Given the description of an element on the screen output the (x, y) to click on. 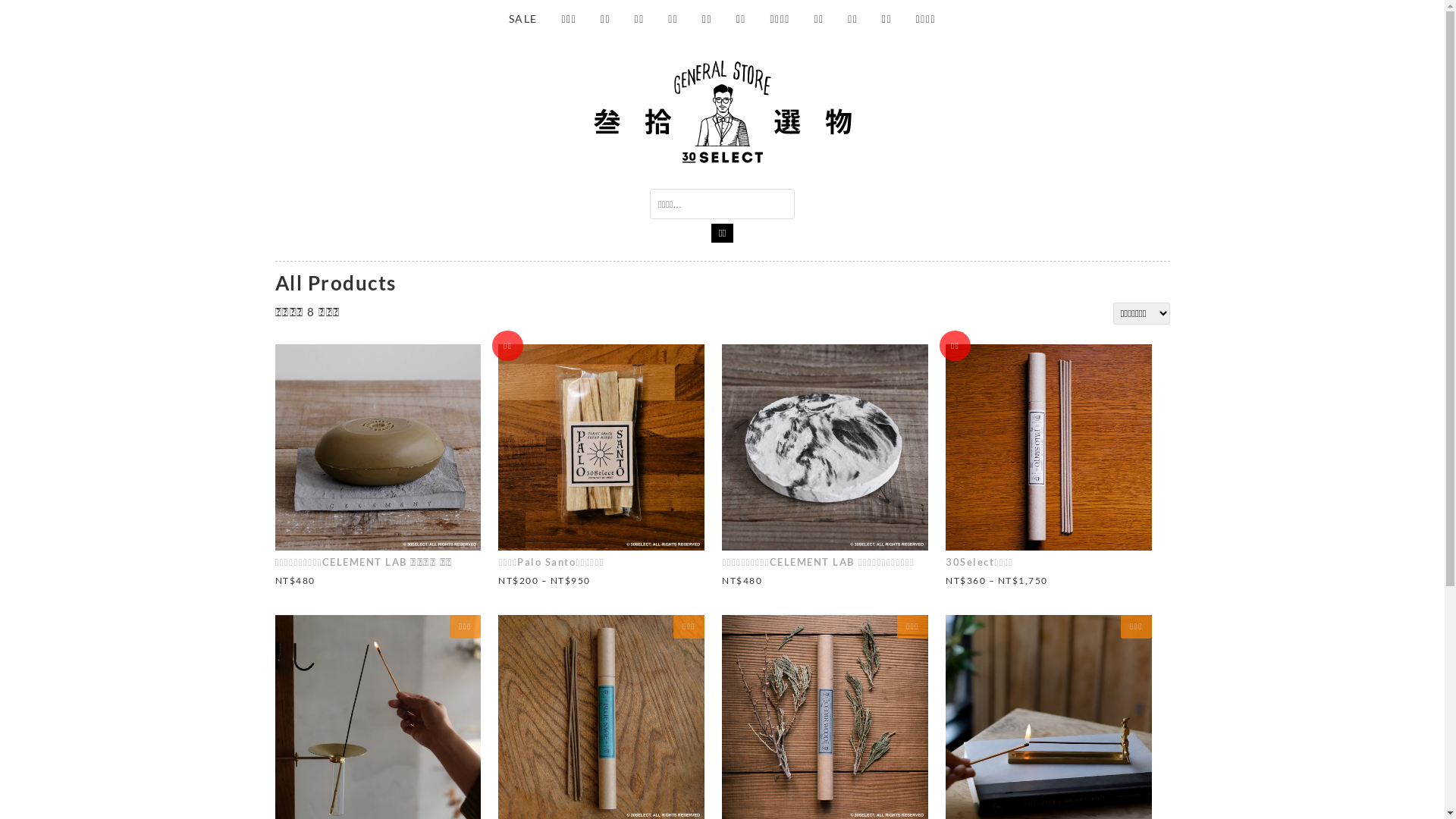
SALE Element type: text (523, 18)
